Given the description of an element on the screen output the (x, y) to click on. 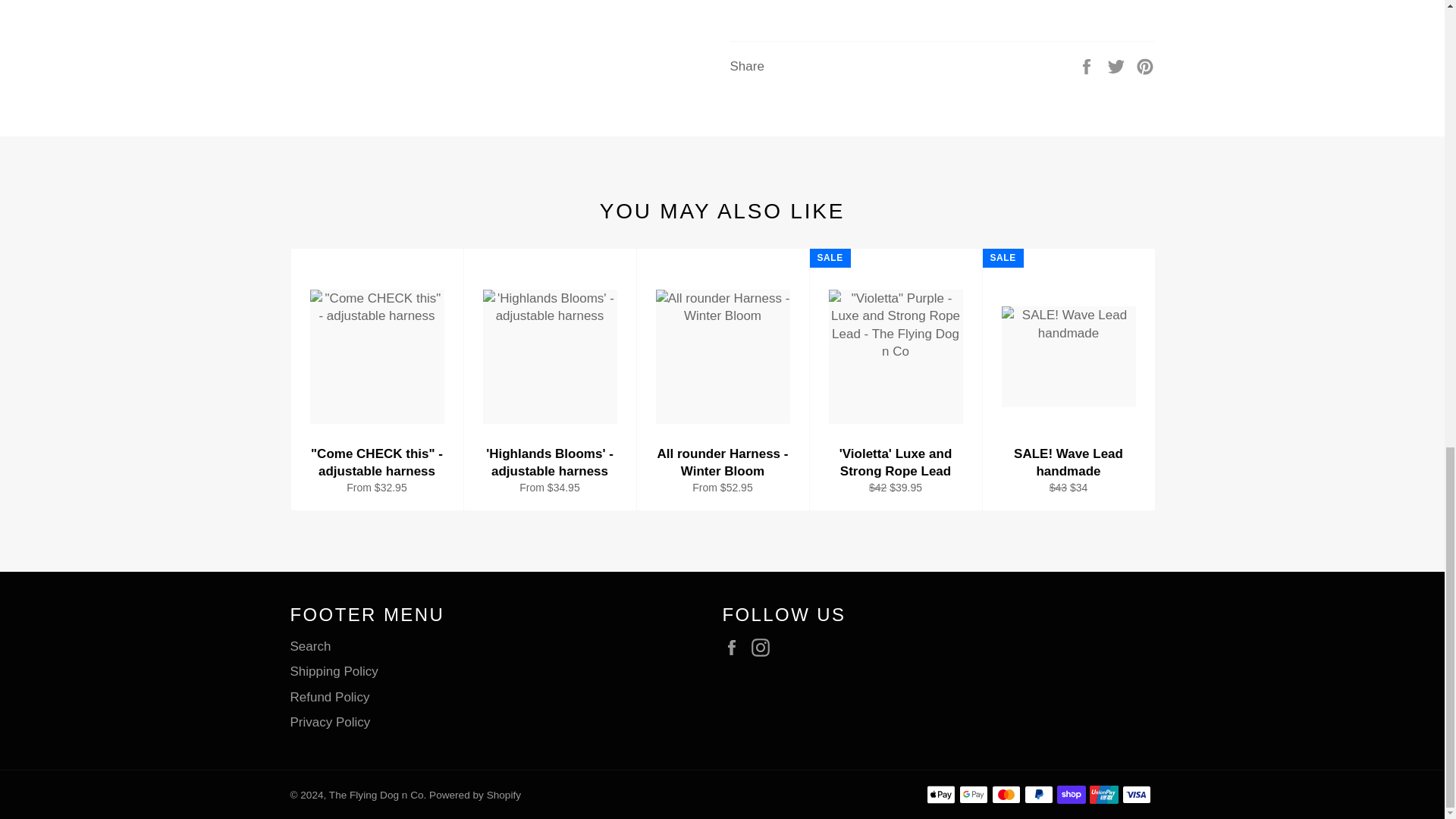
Tweet on Twitter (1117, 65)
The Flying Dog n Co on Instagram (764, 647)
The Flying Dog n Co on Facebook (735, 647)
Pin on Pinterest (1144, 65)
Share on Facebook (1088, 65)
